Given the description of an element on the screen output the (x, y) to click on. 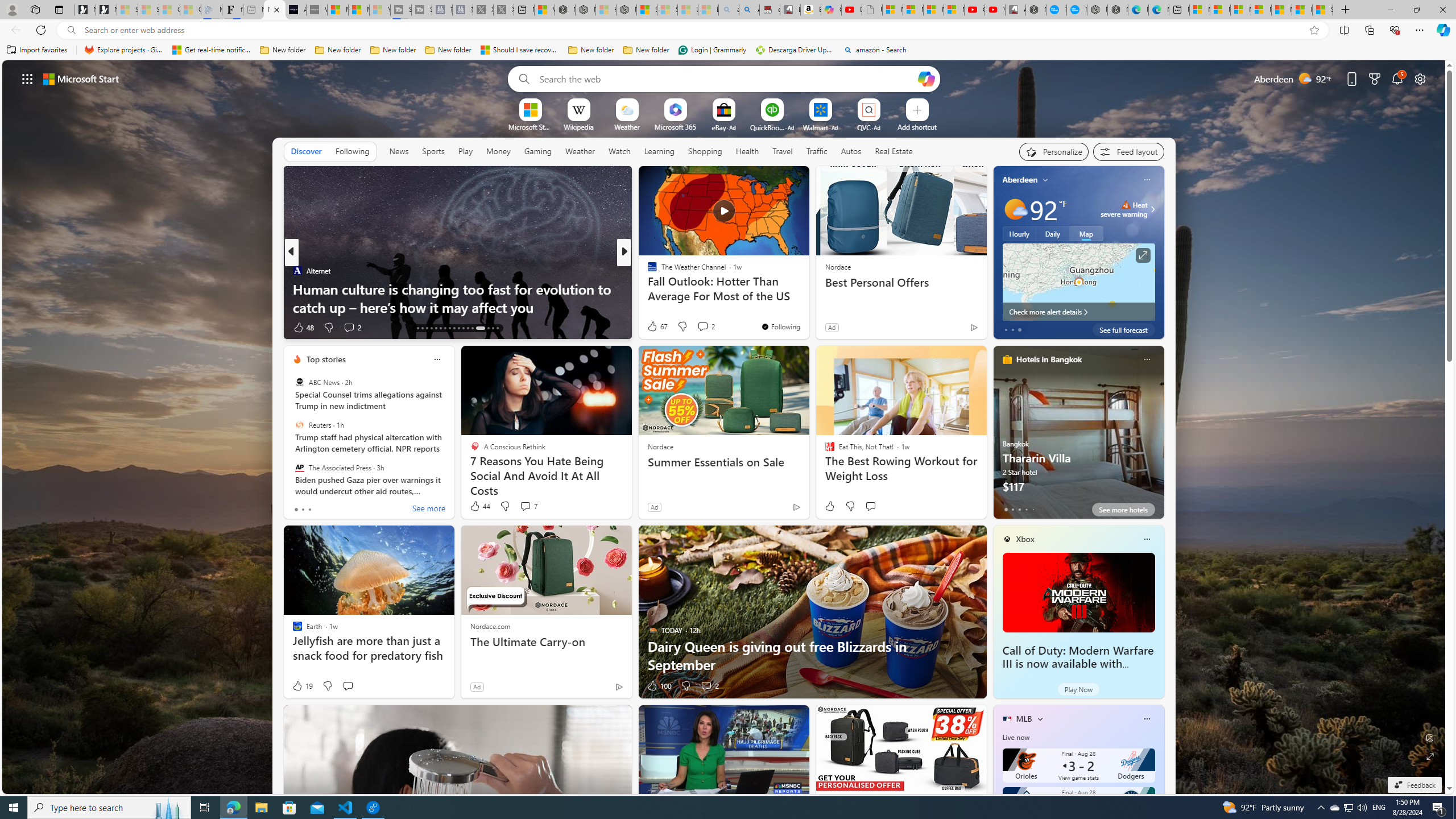
tab-2 (1019, 509)
Weather (579, 151)
Personal Profile (12, 9)
Close (1442, 9)
View comments 11 Comment (6, 327)
Shopping (705, 151)
Streaming Coverage | T3 - Sleeping (400, 9)
previous (998, 432)
Heat - Severe Heat severe warning (1123, 208)
Address and search bar (692, 29)
AutomationID: tab-43 (497, 328)
Add this page to favorites (Ctrl+D) (1314, 29)
